Given the description of an element on the screen output the (x, y) to click on. 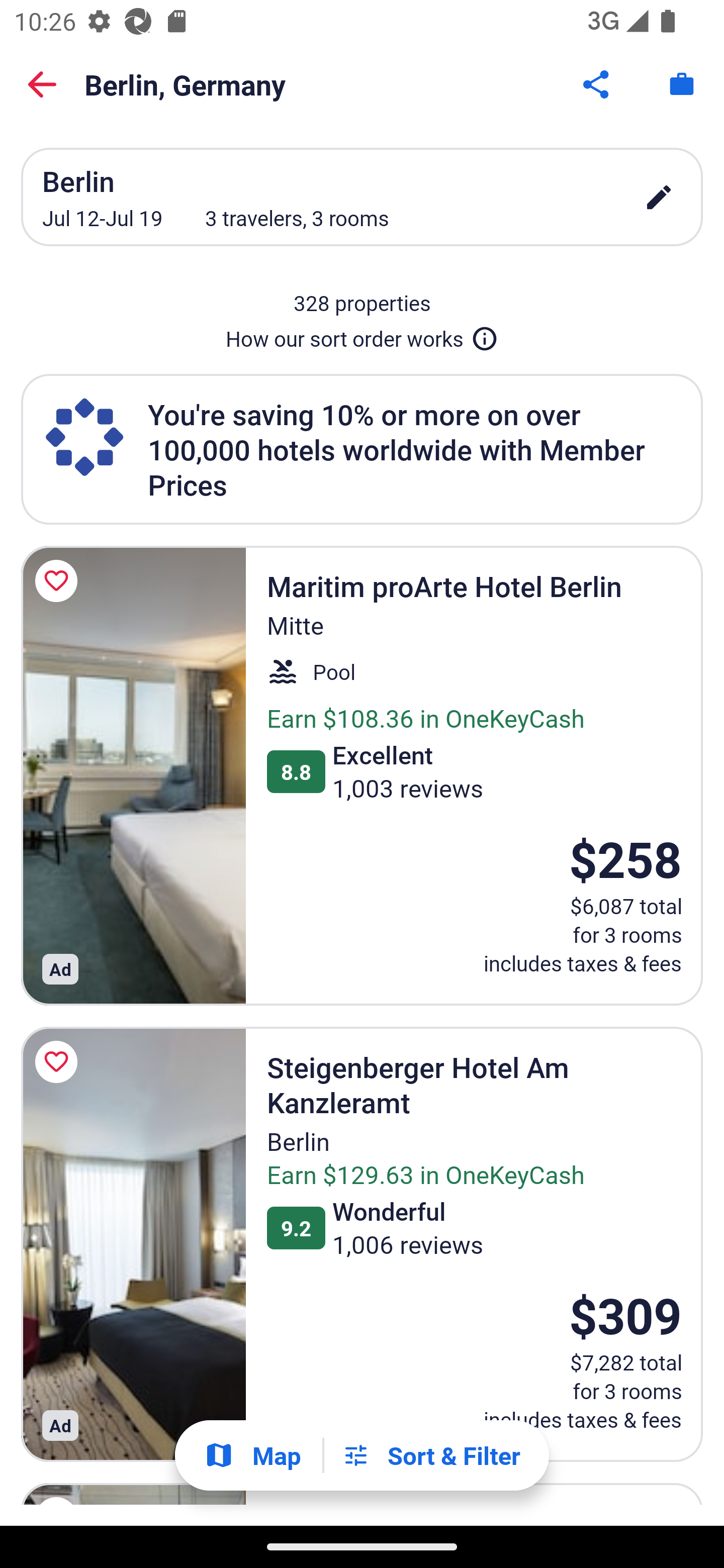
Back (42, 84)
Share Button (597, 84)
Trips. Button (681, 84)
Berlin Jul 12-Jul 19 3 travelers, 3 rooms edit (361, 196)
How our sort order works (361, 334)
Save Maritim proArte Hotel Berlin to a trip (59, 580)
Maritim proArte Hotel Berlin (133, 775)
Save Steigenberger Hotel Am Kanzleramt to a trip (59, 1061)
Steigenberger Hotel Am Kanzleramt (133, 1244)
Filters Sort & Filter Filters Button (430, 1455)
Show map Map Show map Button (252, 1455)
